Given the description of an element on the screen output the (x, y) to click on. 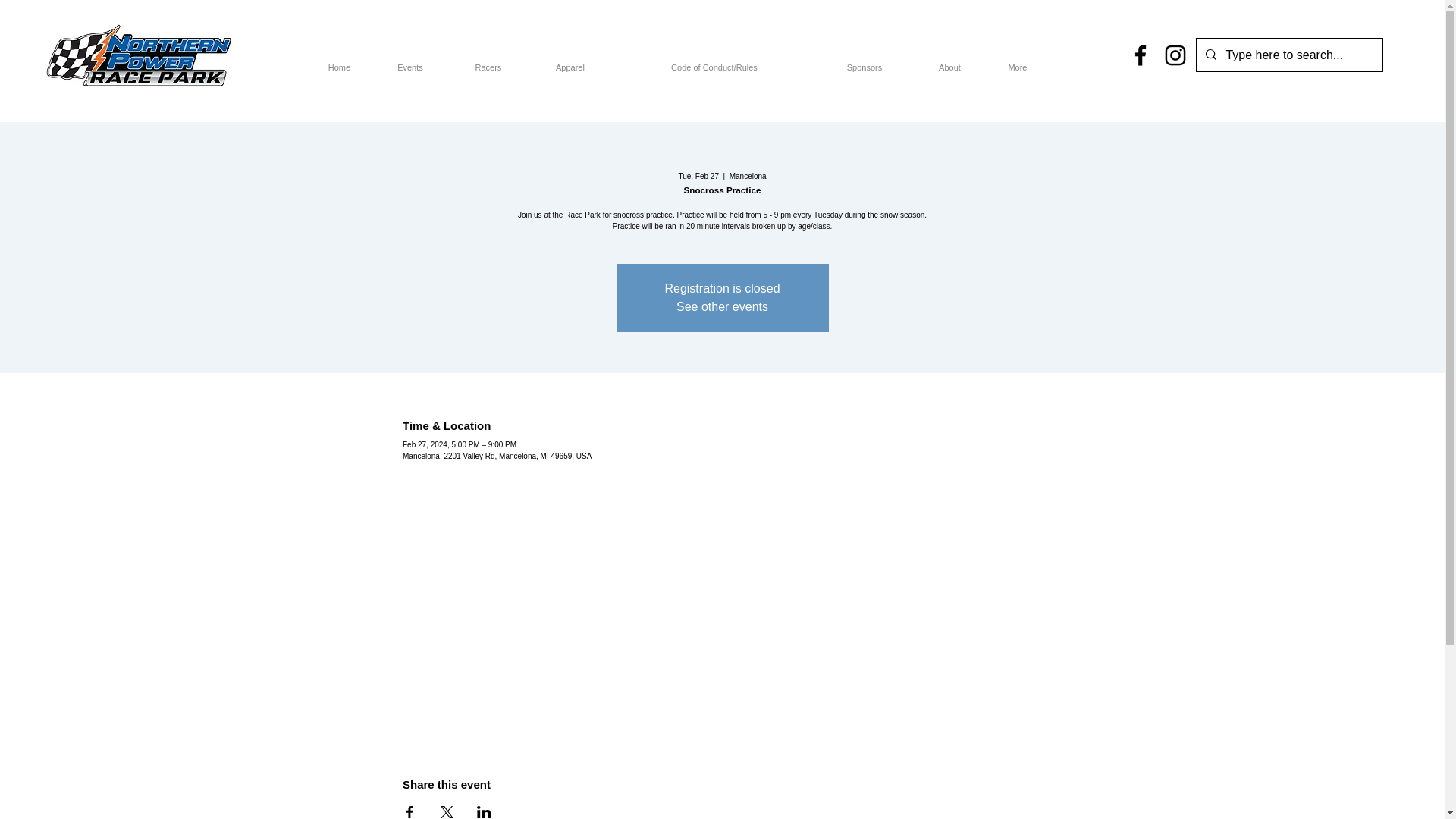
Home (339, 60)
Apparel (569, 60)
Sponsors (863, 60)
NPE Race Park Logo.jpg (138, 54)
About (948, 60)
See other events (722, 306)
